Given the description of an element on the screen output the (x, y) to click on. 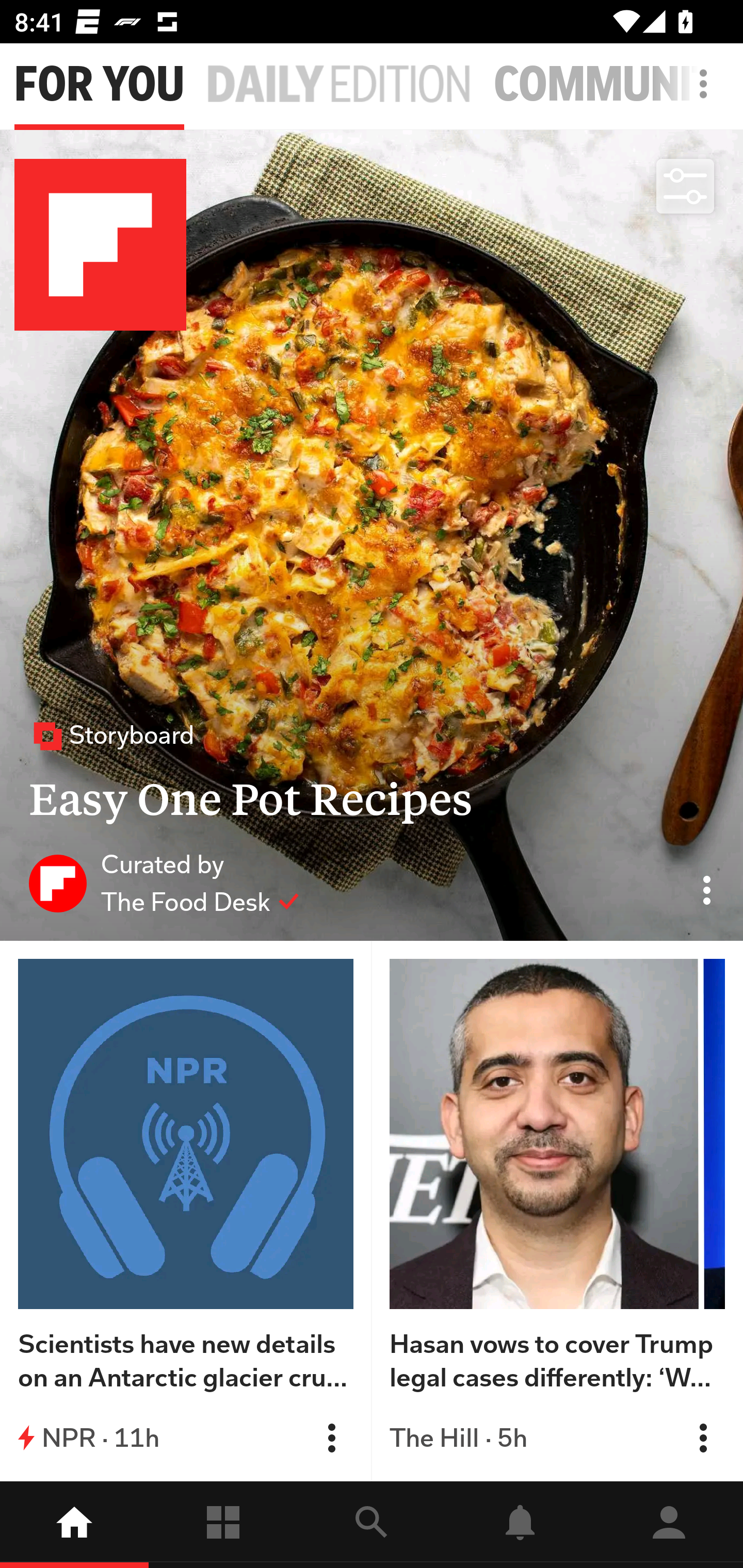
FOR YOU (99, 84)
COMMUNITY (618, 84)
More options (706, 93)
Curated by The Food Desk (163, 882)
NPR · 11h Flip into Magazine (185, 1437)
The Hill · 5h Flip into Magazine (557, 1437)
Flip into Magazine (331, 1437)
Flip into Magazine (331, 1437)
Flip into Magazine (703, 1437)
Flip into Magazine (703, 1437)
home (74, 1524)
Following (222, 1524)
explore (371, 1524)
Notifications (519, 1524)
Profile (668, 1524)
